Given the description of an element on the screen output the (x, y) to click on. 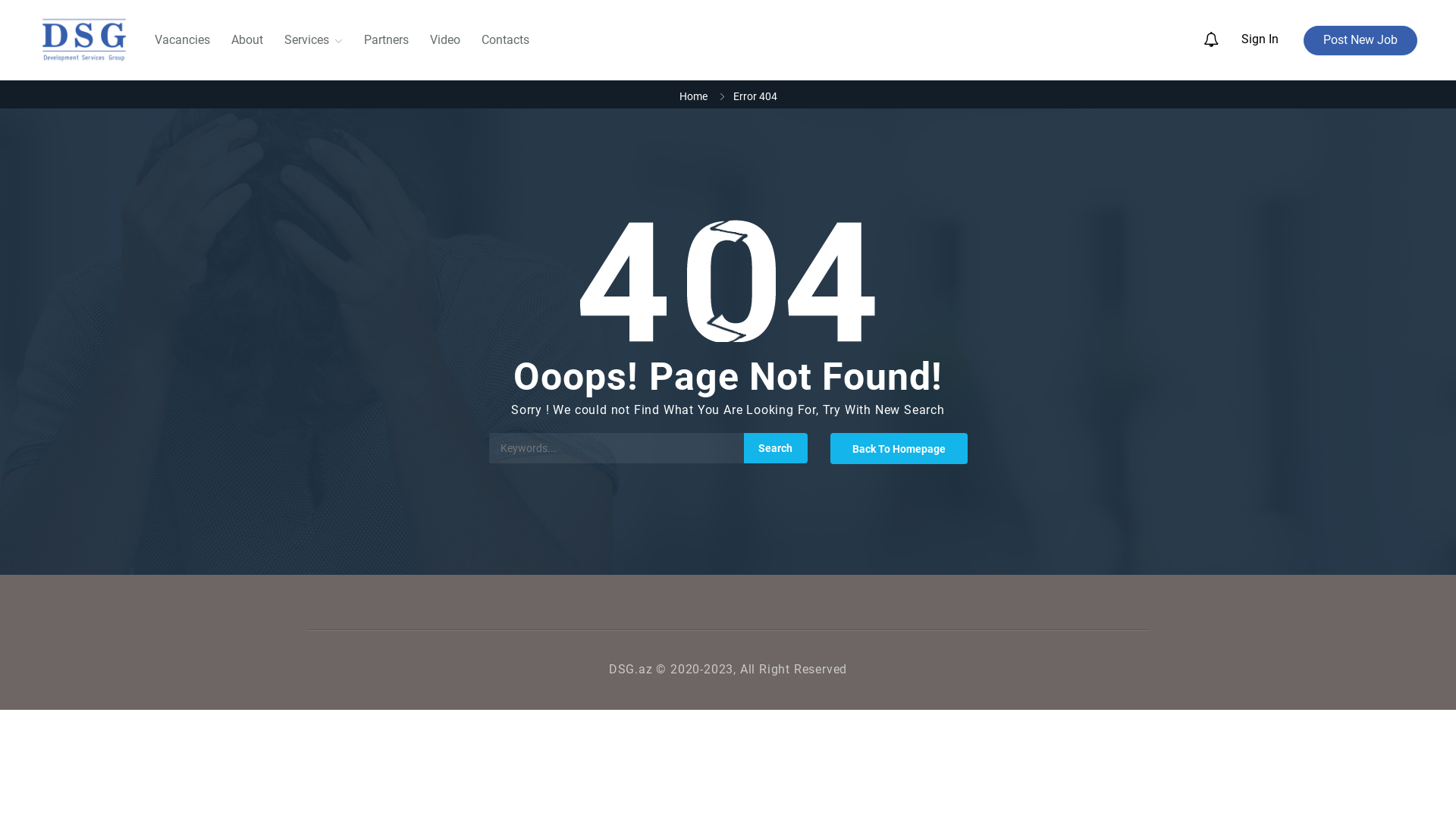
Activate Account Element type: text (597, 442)
Back To Homepage Element type: text (897, 448)
Sign In Element type: text (1271, 39)
Home Element type: text (693, 96)
Services Element type: text (313, 40)
Search Element type: text (774, 448)
DSG.az Element type: hover (83, 39)
Contacts Element type: text (505, 39)
About Element type: text (247, 39)
Video Element type: text (444, 39)
Post New Job Element type: text (1360, 40)
Sign In Element type: text (568, 420)
Vacancies Element type: text (182, 39)
0 Element type: text (1222, 39)
Partners Element type: text (386, 39)
